Given the description of an element on the screen output the (x, y) to click on. 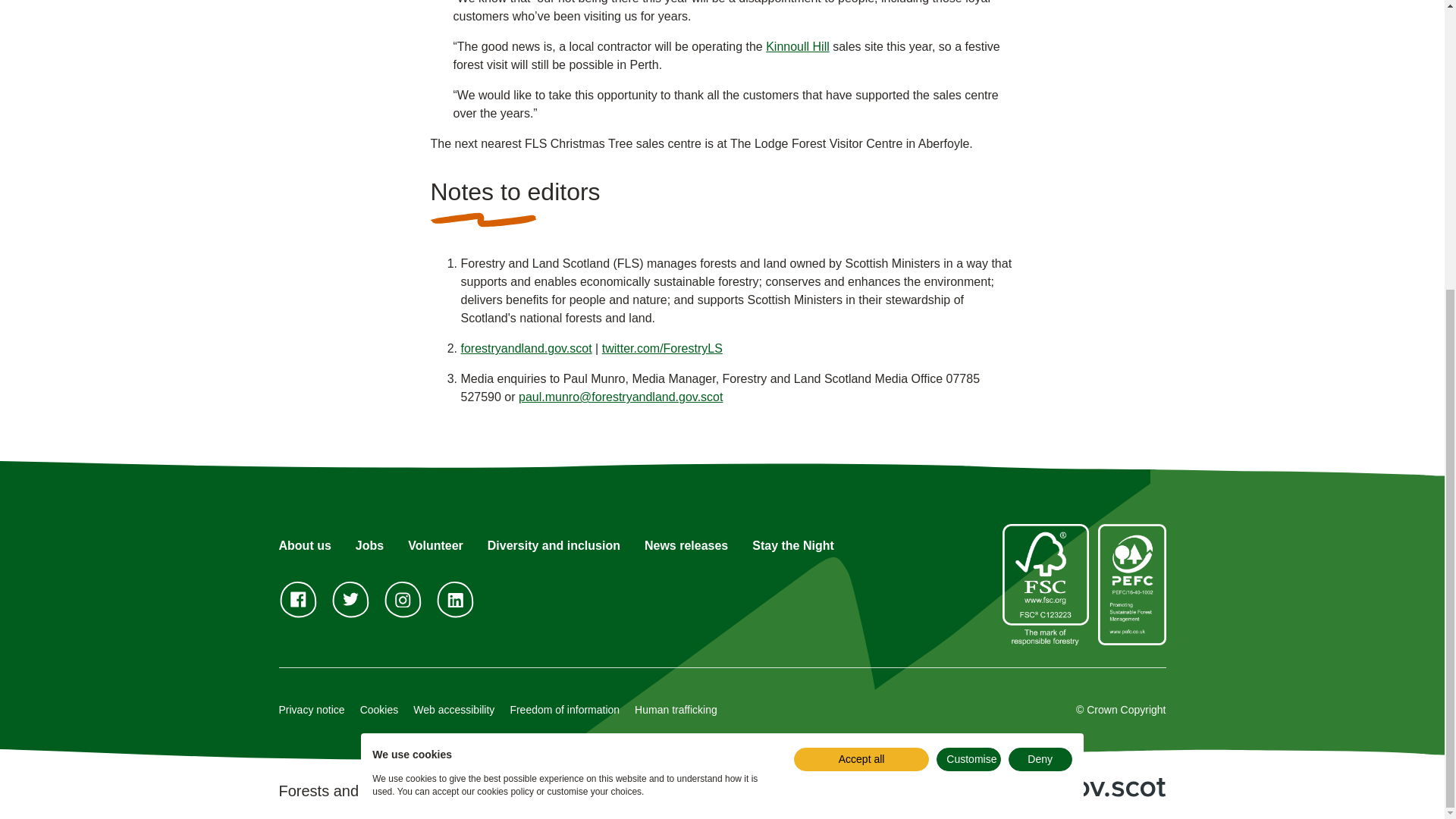
About us (305, 545)
Accept all (860, 318)
Deny (1040, 318)
forestryandland.gov.scot (526, 348)
Web accessibility (454, 709)
Jobs (369, 545)
Freedom of information (564, 709)
Forestry and Land Scotland on Instagram (402, 598)
Forestry and Land Scotland on Twitter (350, 598)
Forestry and Land Scotland on LinkedIn (454, 598)
Human trafficking (675, 709)
Privacy notice (312, 709)
Volunteer (435, 545)
News releases (686, 545)
Stay the Night (793, 545)
